Given the description of an element on the screen output the (x, y) to click on. 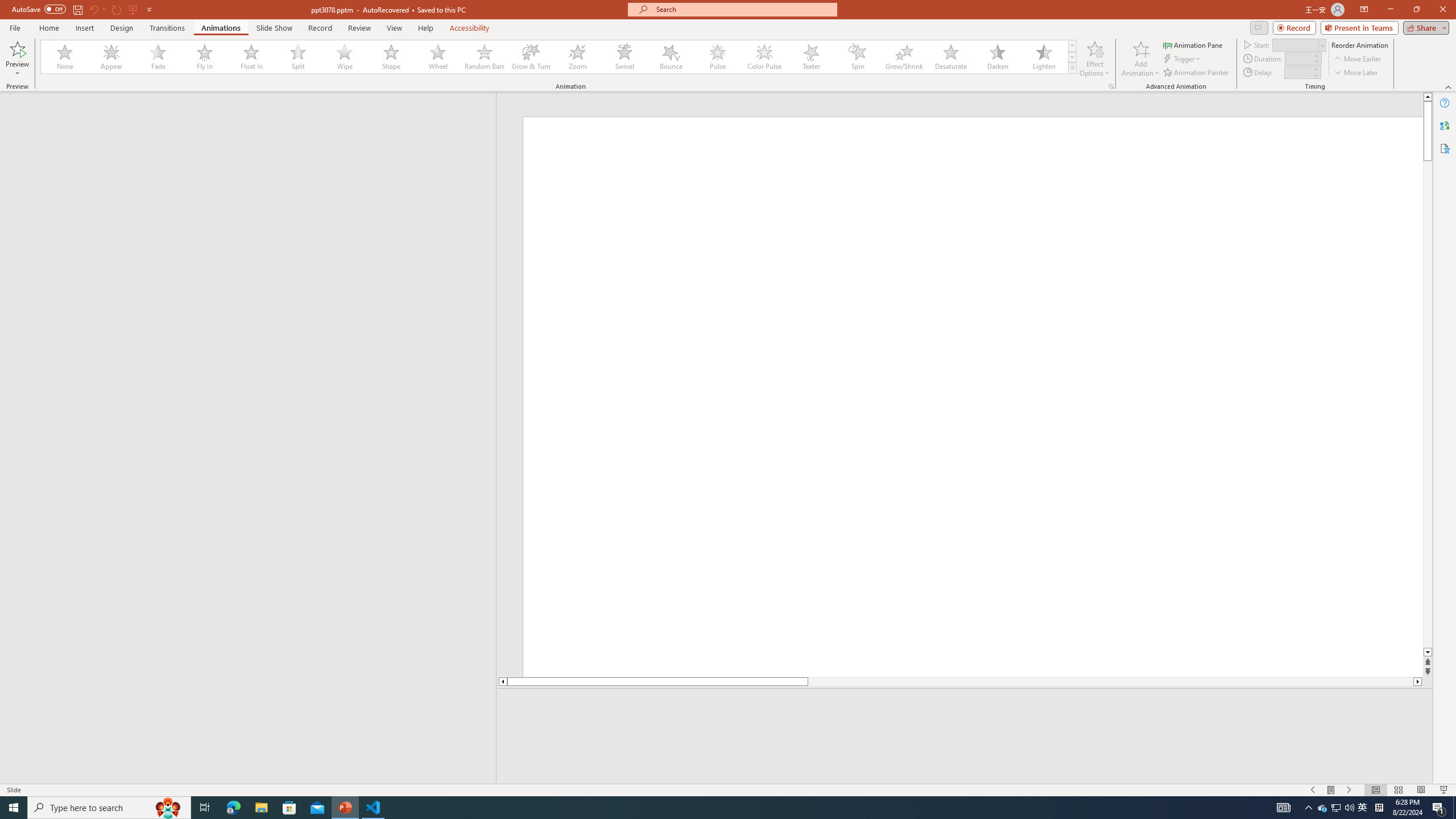
Darken (997, 56)
